Given the description of an element on the screen output the (x, y) to click on. 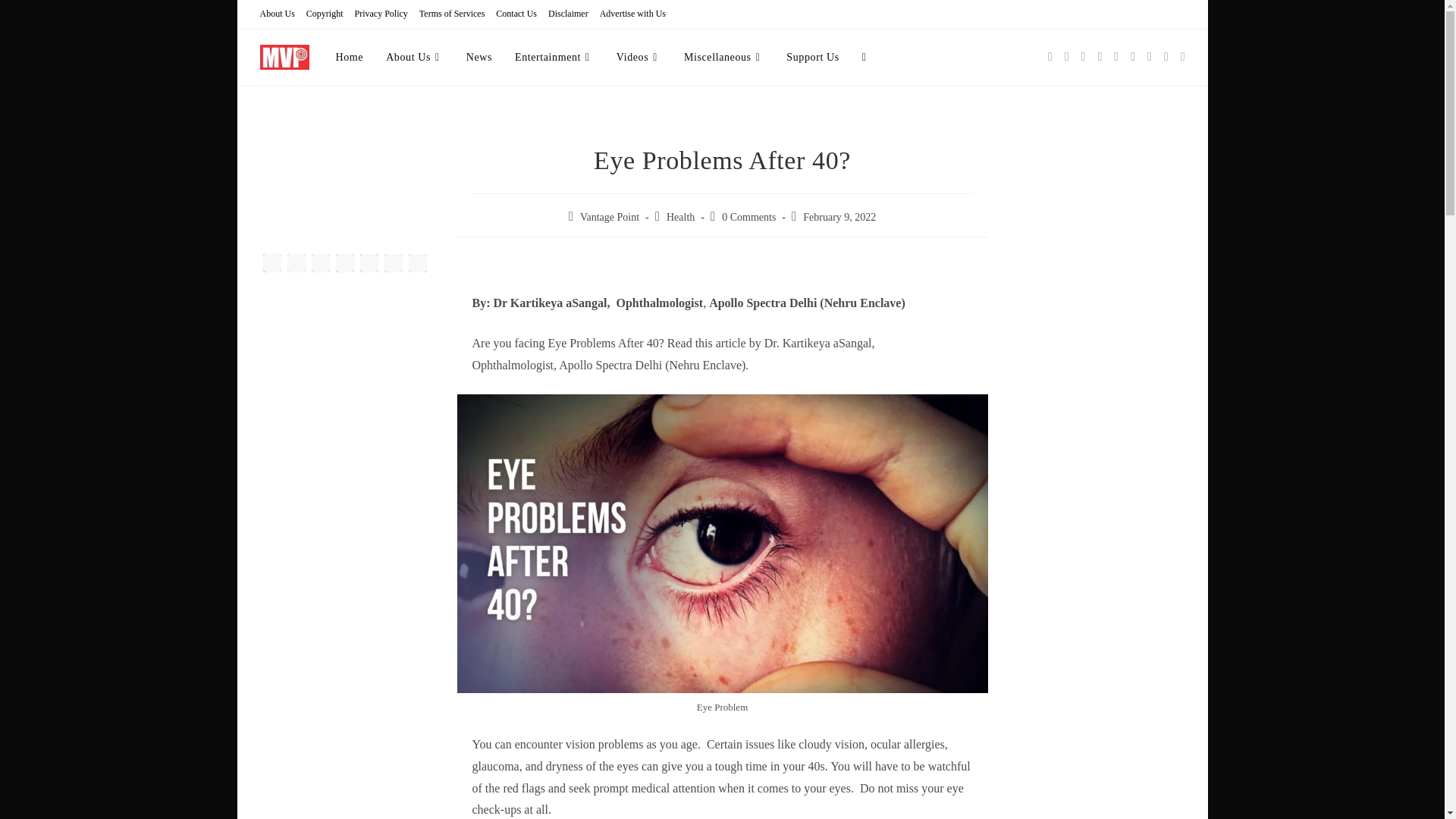
Disclaimer (568, 13)
Privacy Policy (381, 13)
Entertainment (554, 57)
Tumblr (368, 263)
Facebook (271, 263)
Pinterest (343, 263)
About Us (276, 13)
Terms of Services (451, 13)
Reddit (392, 263)
Contact Us (516, 13)
